Given the description of an element on the screen output the (x, y) to click on. 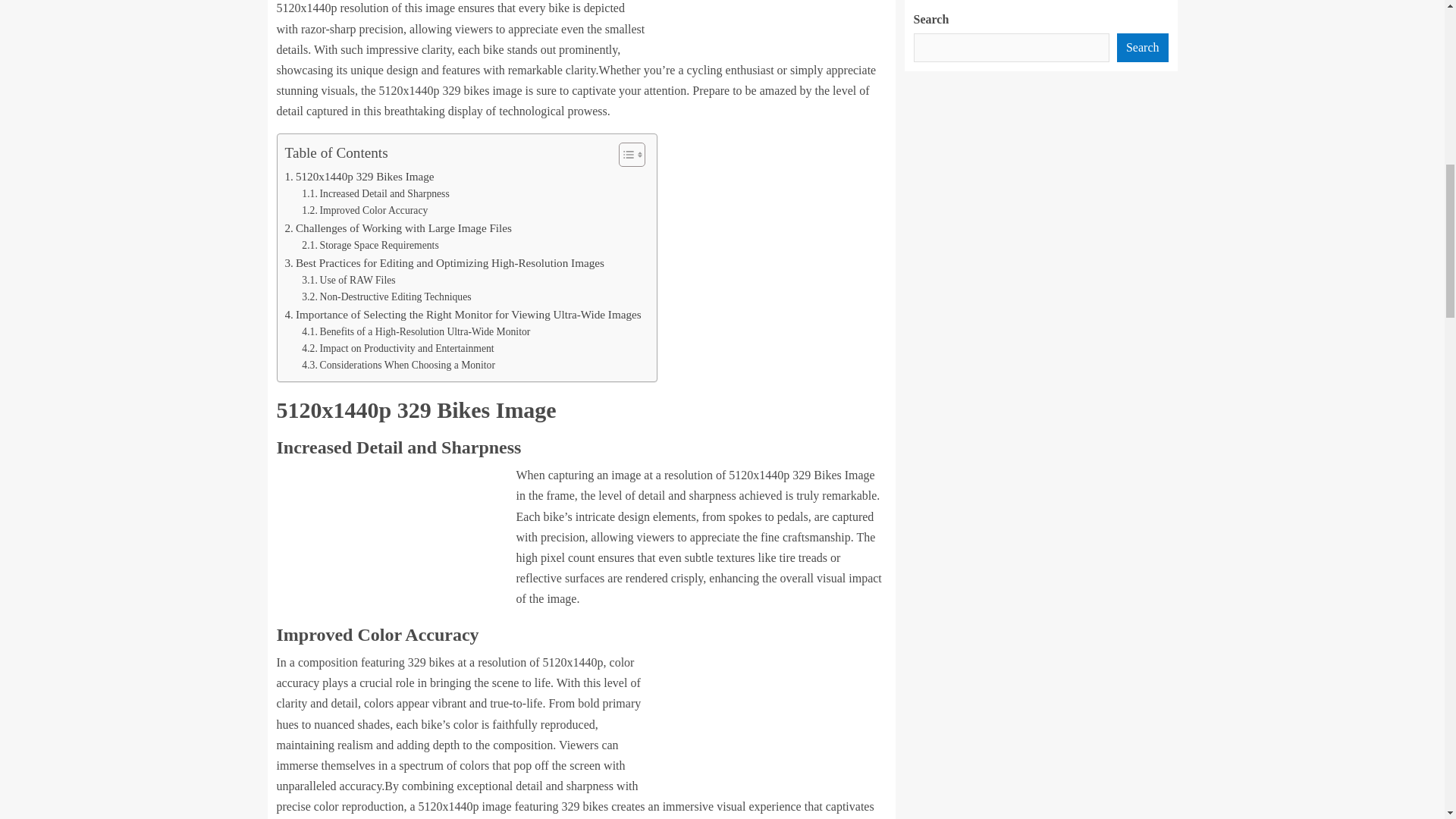
5120x1440p 329 Bikes Image (359, 176)
Increased Detail and Sharpness (374, 193)
Non-Destructive Editing Techniques (385, 297)
Storage Space Requirements (369, 245)
Use of RAW Files (347, 280)
Considerations When Choosing a Monitor (398, 365)
5120x1440p 329 Bikes Image (359, 176)
Use of RAW Files (347, 280)
Non-Destructive Editing Techniques (385, 297)
Considerations When Choosing a Monitor (398, 365)
